Given the description of an element on the screen output the (x, y) to click on. 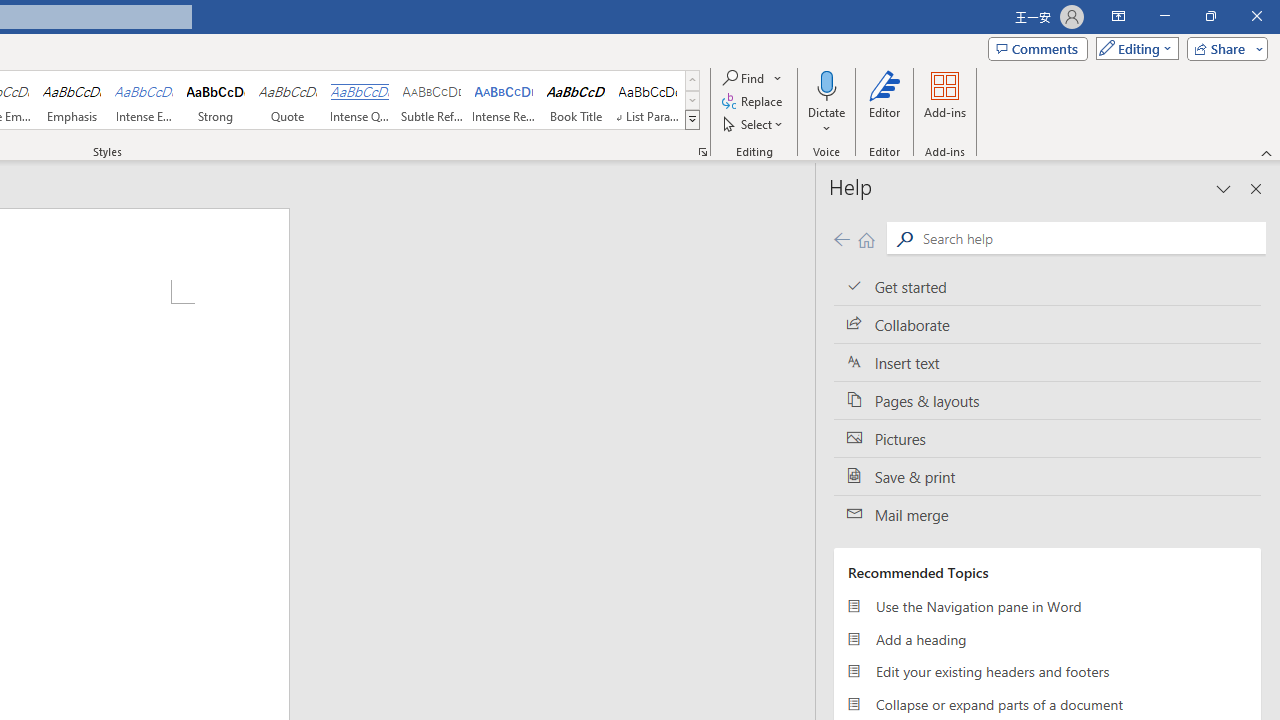
Save & print (1047, 476)
Get started (1047, 286)
Use the Navigation pane in Word (1047, 605)
Previous page (841, 238)
